Given the description of an element on the screen output the (x, y) to click on. 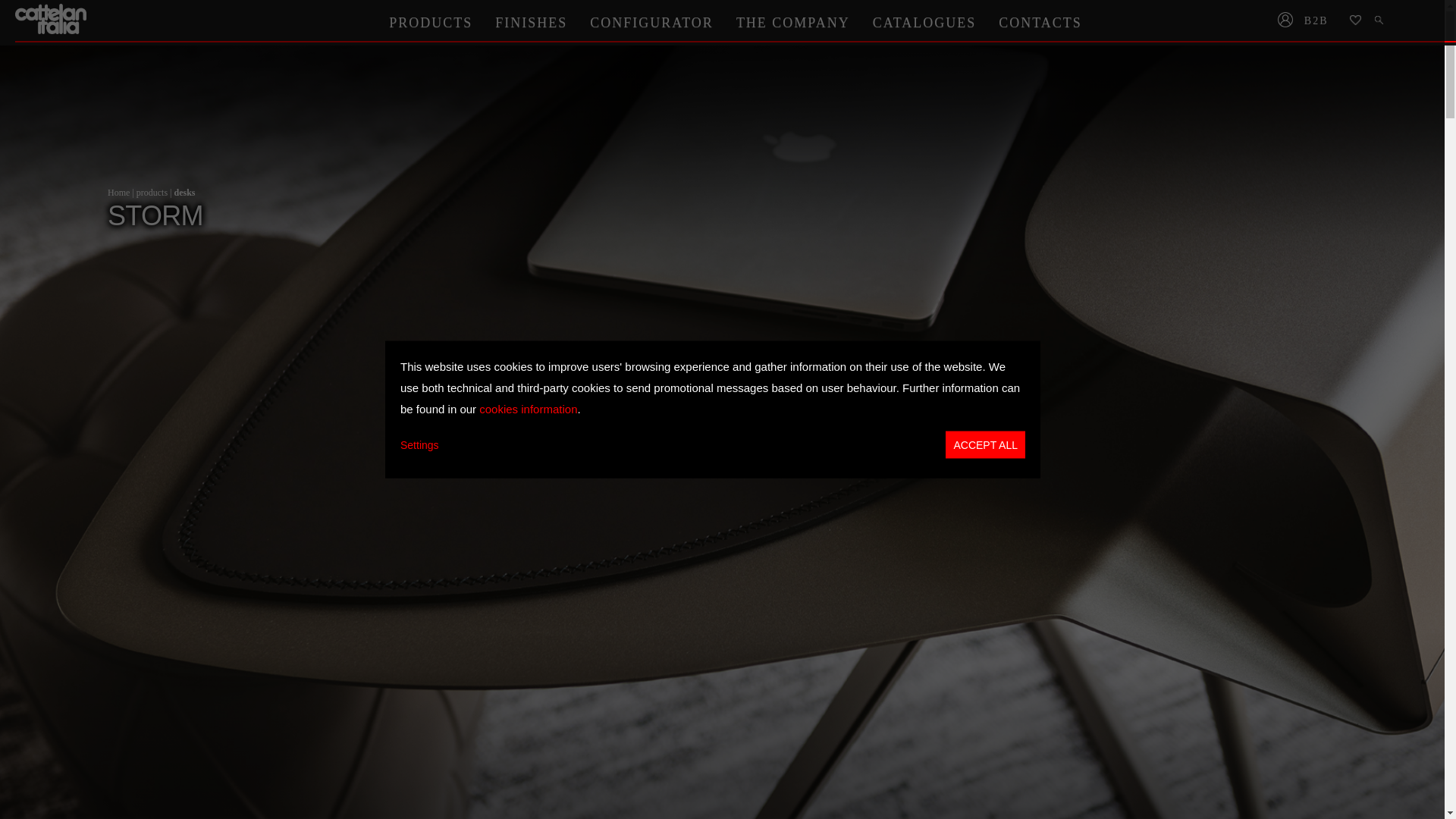
products (151, 192)
CONFIGURATOR (651, 22)
CONTACTS (1040, 22)
products (151, 192)
Login (1285, 21)
FINISHES (530, 22)
ACCEPT ALL (984, 443)
Settings (419, 444)
Cookies information (527, 408)
cookies information (527, 408)
Search... (1381, 20)
B2B (1321, 20)
CATALOGUES (924, 22)
PRODUCTS (430, 22)
THE COMPANY (793, 22)
